Given the description of an element on the screen output the (x, y) to click on. 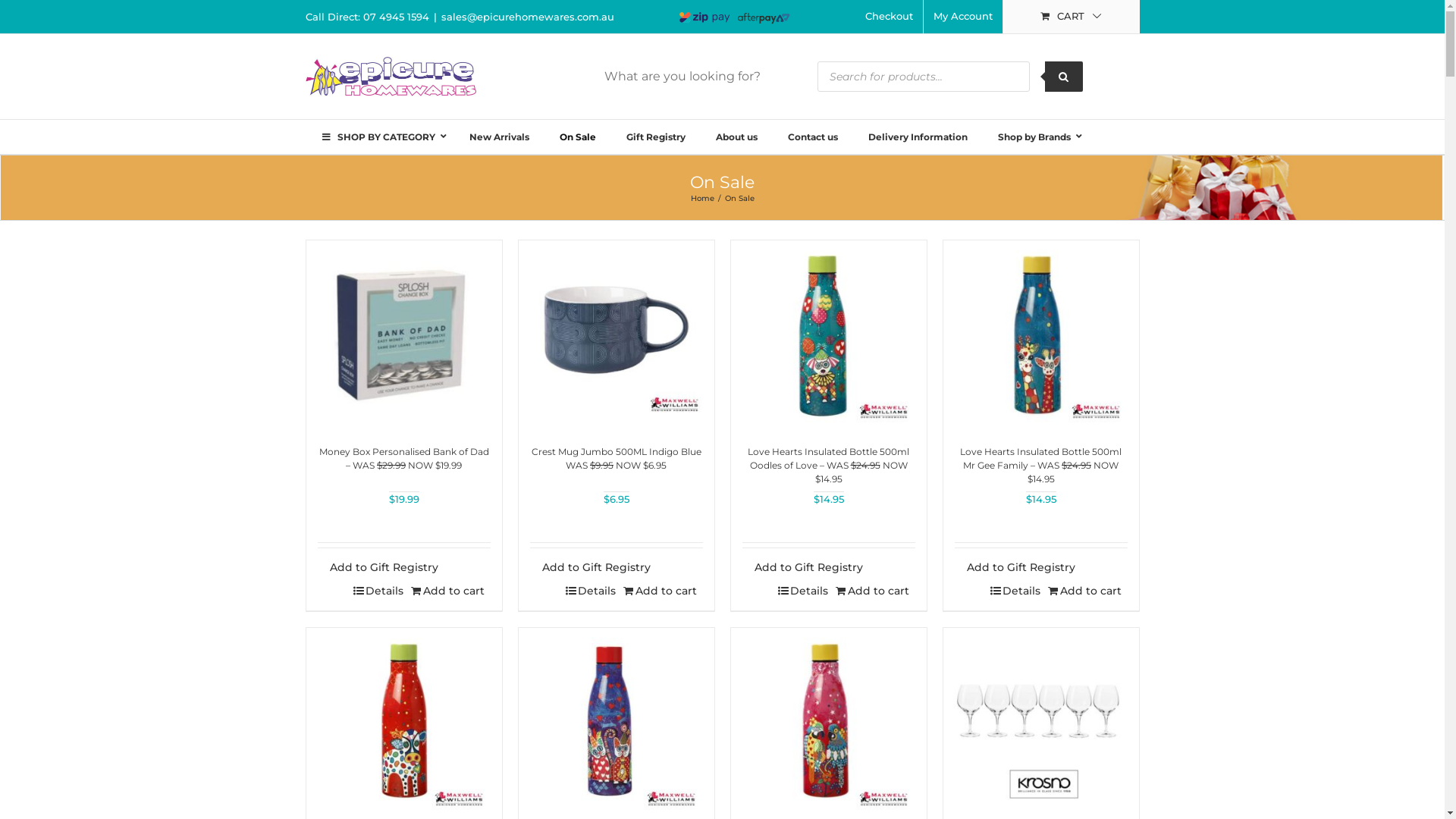
sales@epicurehomewares.com.au Element type: text (527, 16)
Add to cart Element type: text (456, 591)
Log In Element type: text (1057, 144)
About us Element type: text (736, 136)
Home Element type: text (701, 198)
Details Element type: text (387, 591)
Gift Registry Element type: text (655, 136)
Add to Gift Registry Element type: text (377, 571)
Contact us Element type: text (812, 136)
Delivery Information Element type: text (917, 136)
Add to cart Element type: text (668, 591)
On Sale Element type: text (577, 136)
Checkout Element type: text (888, 16)
Details Element type: text (1024, 591)
Shop by Brands Element type: text (1035, 136)
Add to cart Element type: text (1093, 591)
07 4945 1594 Element type: text (395, 16)
New Arrivals Element type: text (499, 136)
CART Element type: text (1070, 16)
Crest Mug Jumbo 500ML Indigo Blue WAS $9.95 NOW $6.95 Element type: text (615, 457)
SHOP BY CATEGORY Element type: text (379, 136)
Details Element type: text (599, 591)
Add to cart Element type: text (881, 591)
Add to Gift Registry Element type: text (801, 571)
Details Element type: text (812, 591)
Add to Gift Registry Element type: text (589, 571)
My Account Element type: text (962, 16)
Add to Gift Registry Element type: text (1014, 571)
